Given the description of an element on the screen output the (x, y) to click on. 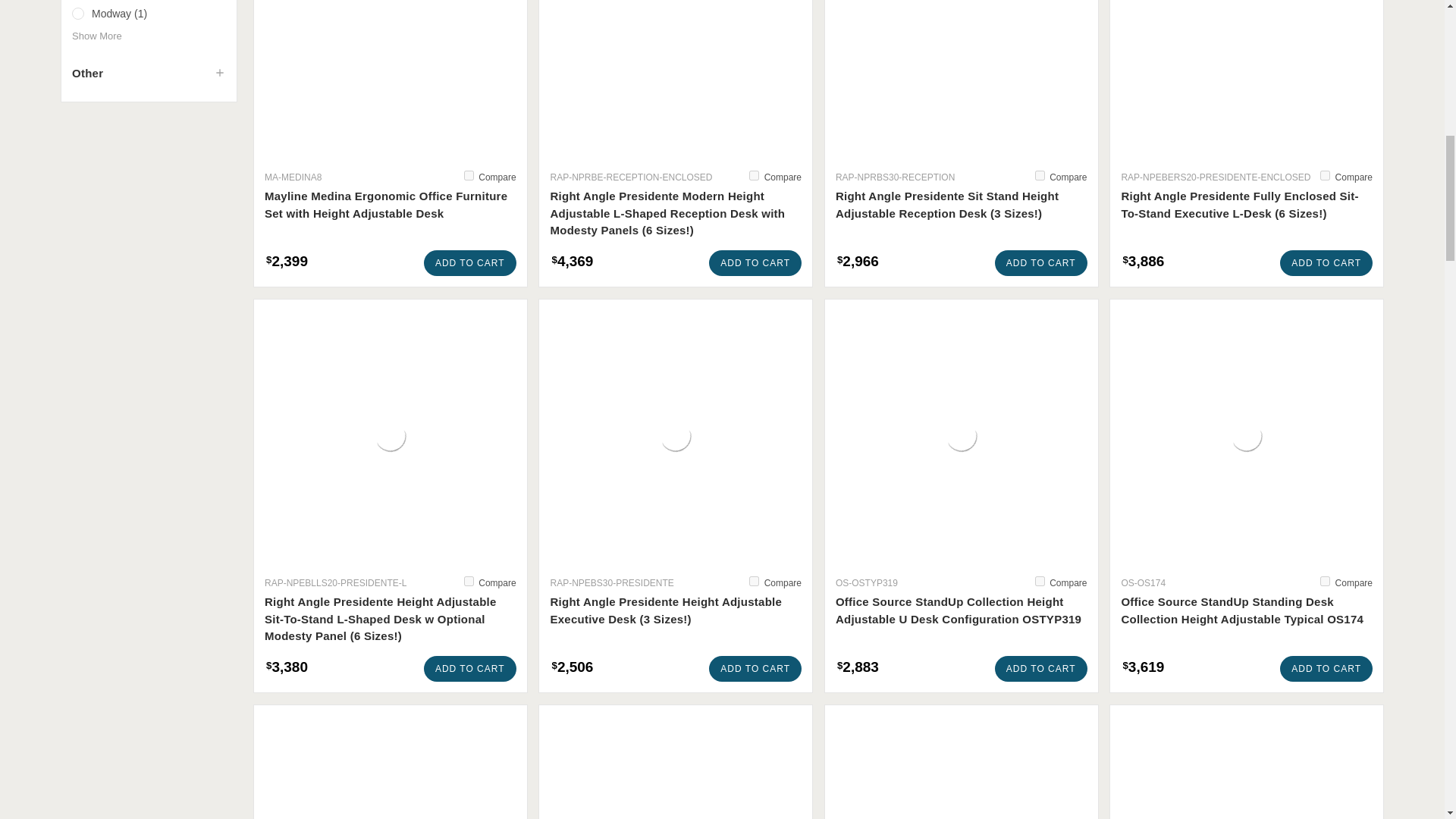
10808 (753, 581)
10608 (469, 175)
10810 (1325, 175)
10809 (469, 581)
10811 (1040, 175)
9907 (1325, 581)
10812 (753, 175)
10778 (1040, 581)
